Given the description of an element on the screen output the (x, y) to click on. 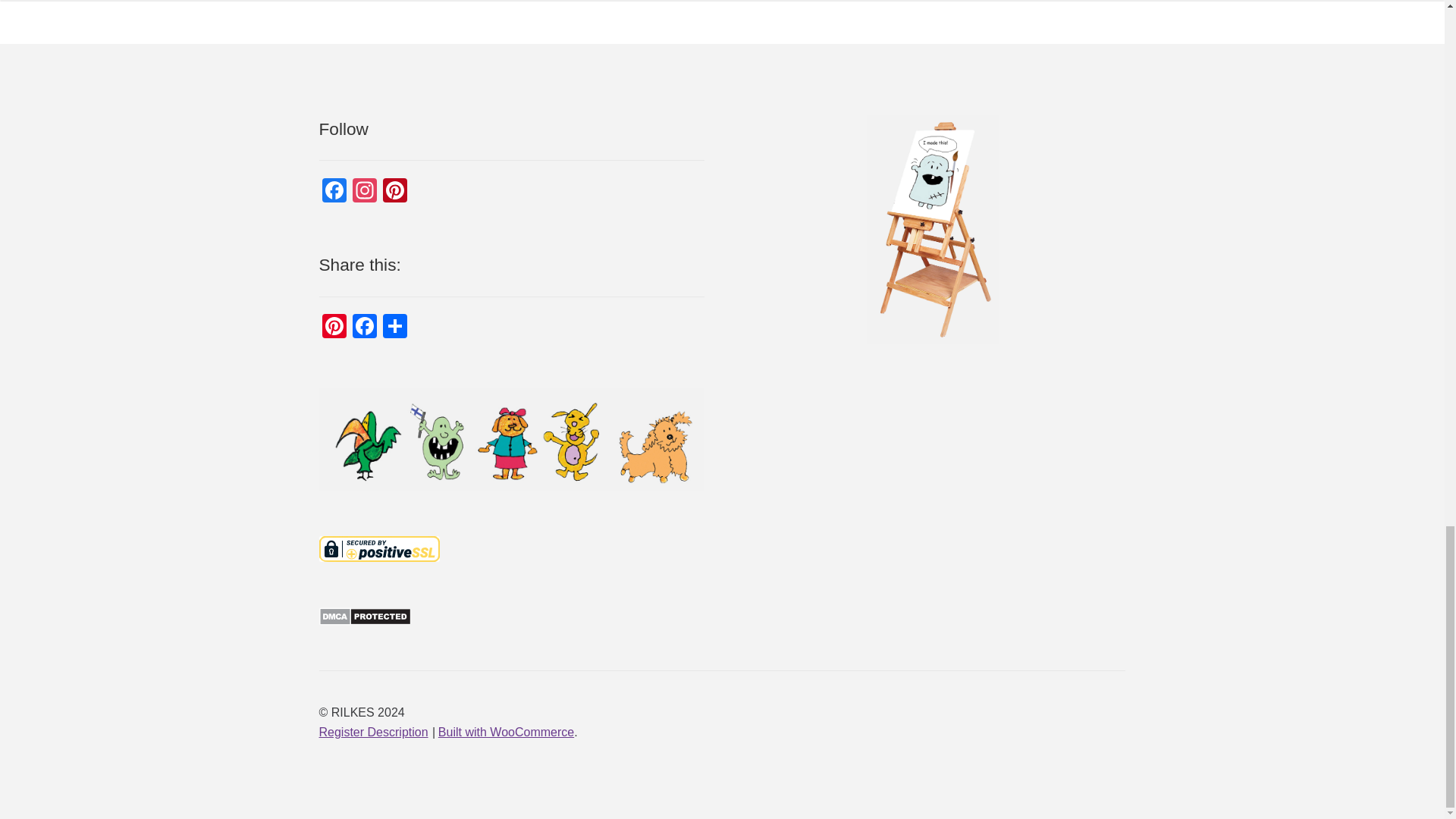
Facebook (333, 192)
Facebook (364, 327)
DMCA.com Protection Status (511, 616)
Instagram (364, 192)
Pinterest (395, 192)
Pinterest (333, 327)
WooCommerce - The Best eCommerce Platform for WordPress (505, 731)
